Given the description of an element on the screen output the (x, y) to click on. 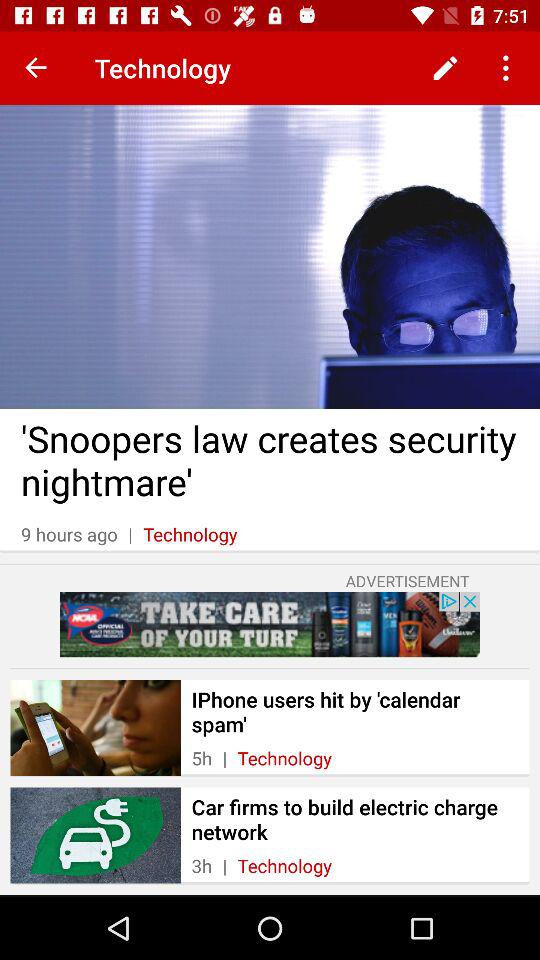
view blink advertisement (270, 624)
